Given the description of an element on the screen output the (x, y) to click on. 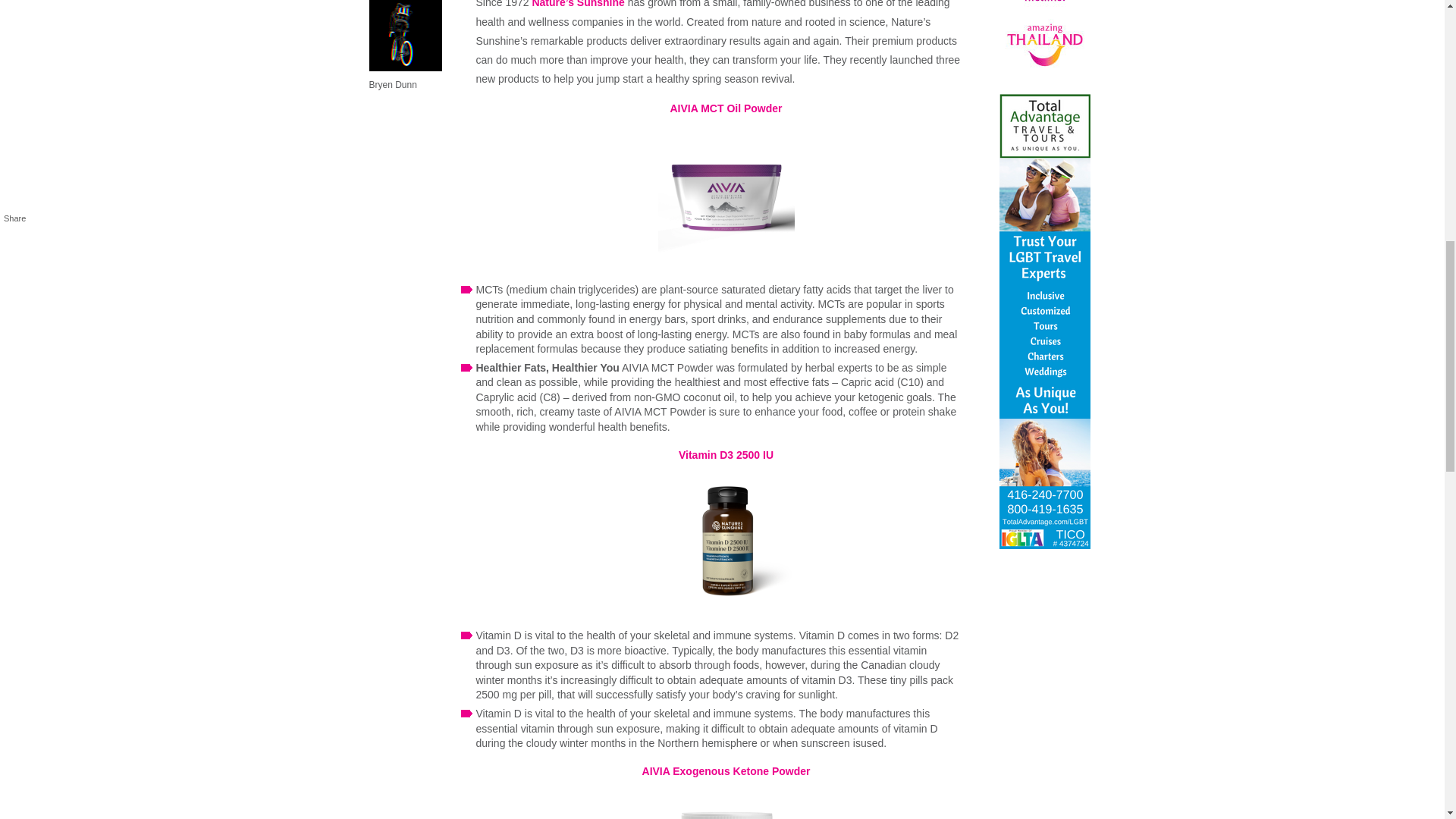
AIVIA MCT Oil Powder (725, 108)
AIVIA Exogenous Ketone Powder (726, 770)
Vitamin D3 2500 IU (725, 454)
